Given the description of an element on the screen output the (x, y) to click on. 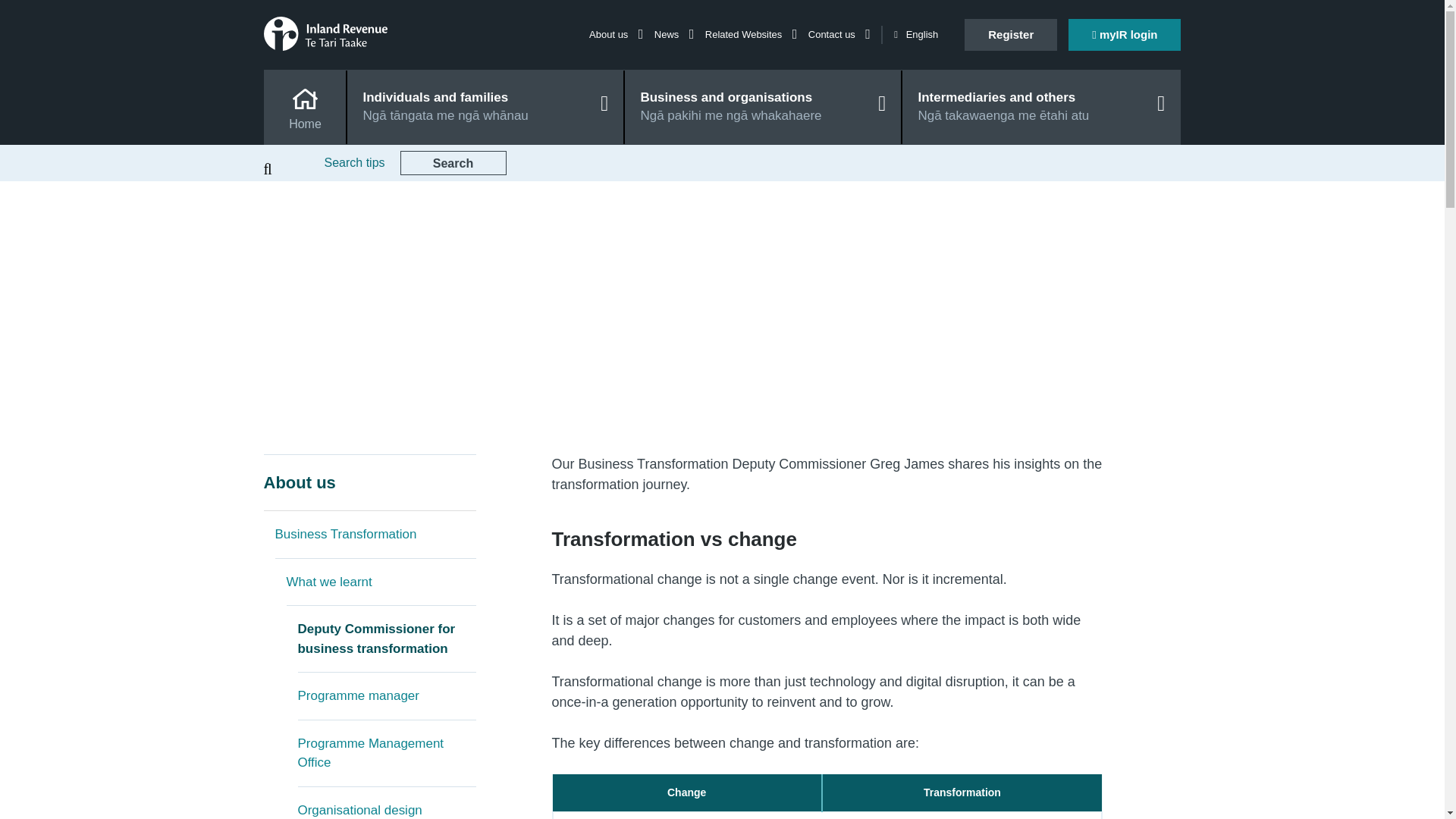
About us (369, 482)
Contact us (839, 34)
Programme Management Office (386, 753)
News (673, 34)
Business Transformation (375, 534)
English (914, 34)
Register (1010, 34)
About us (616, 34)
Organisational design (386, 803)
Related Websites (750, 34)
